Given the description of an element on the screen output the (x, y) to click on. 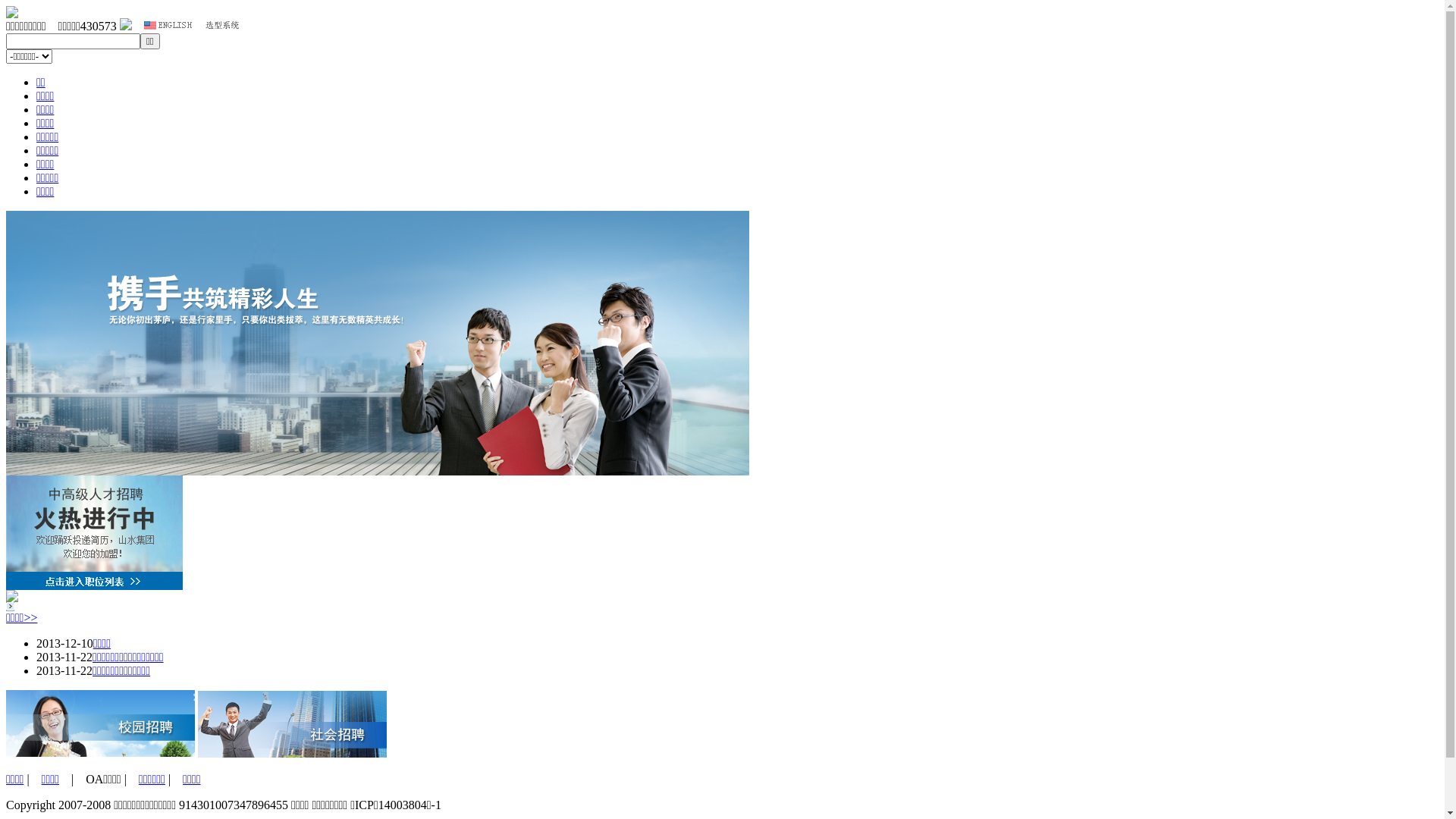
914301007347896455 Element type: text (233, 804)
